Given the description of an element on the screen output the (x, y) to click on. 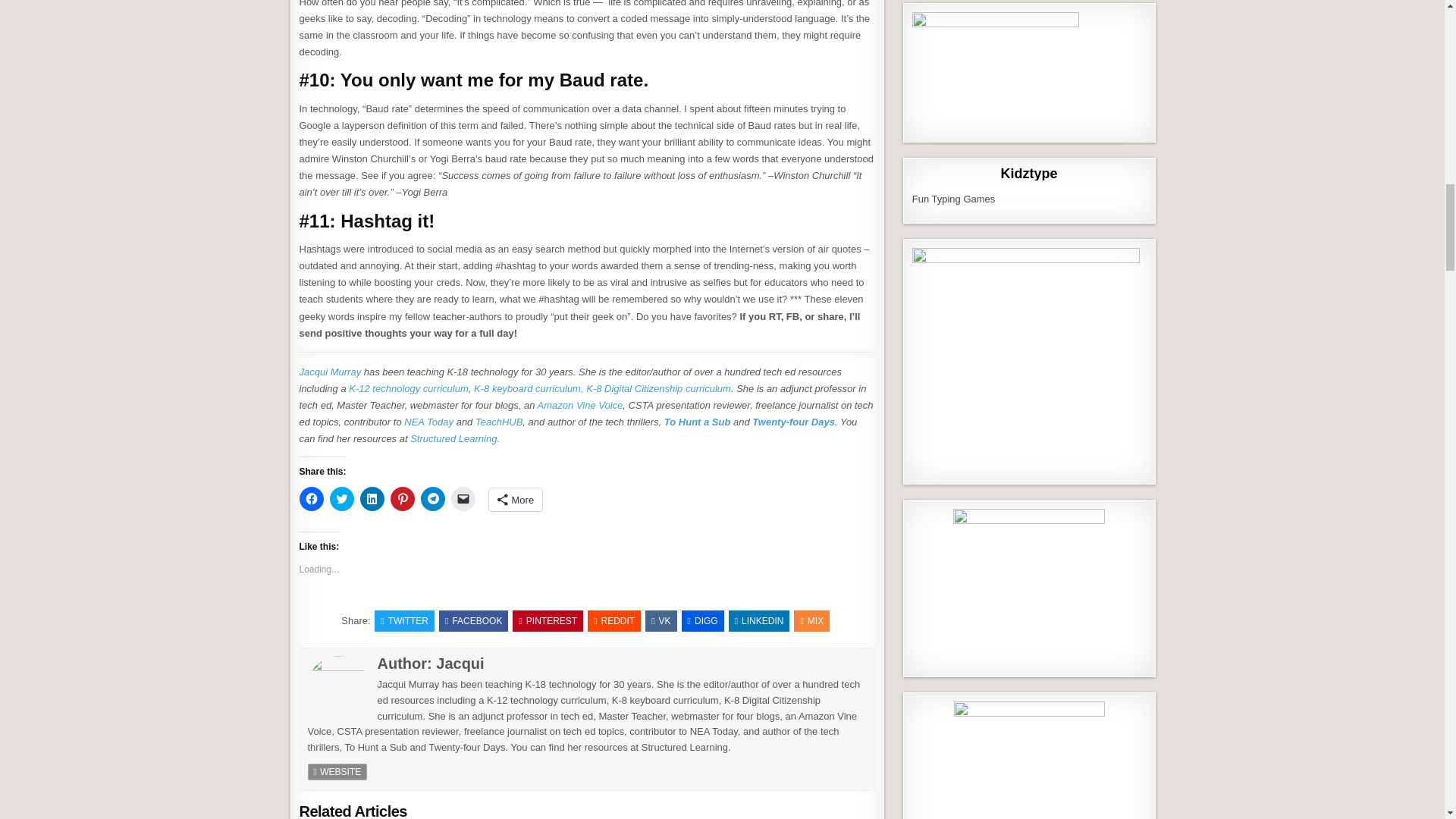
Click to share on Pinterest (401, 498)
Click to share on Facebook (310, 498)
Click to share on Twitter (341, 498)
Click to email a link to a friend (461, 498)
Click to share on Telegram (432, 498)
Click to share on LinkedIn (371, 498)
